Given the description of an element on the screen output the (x, y) to click on. 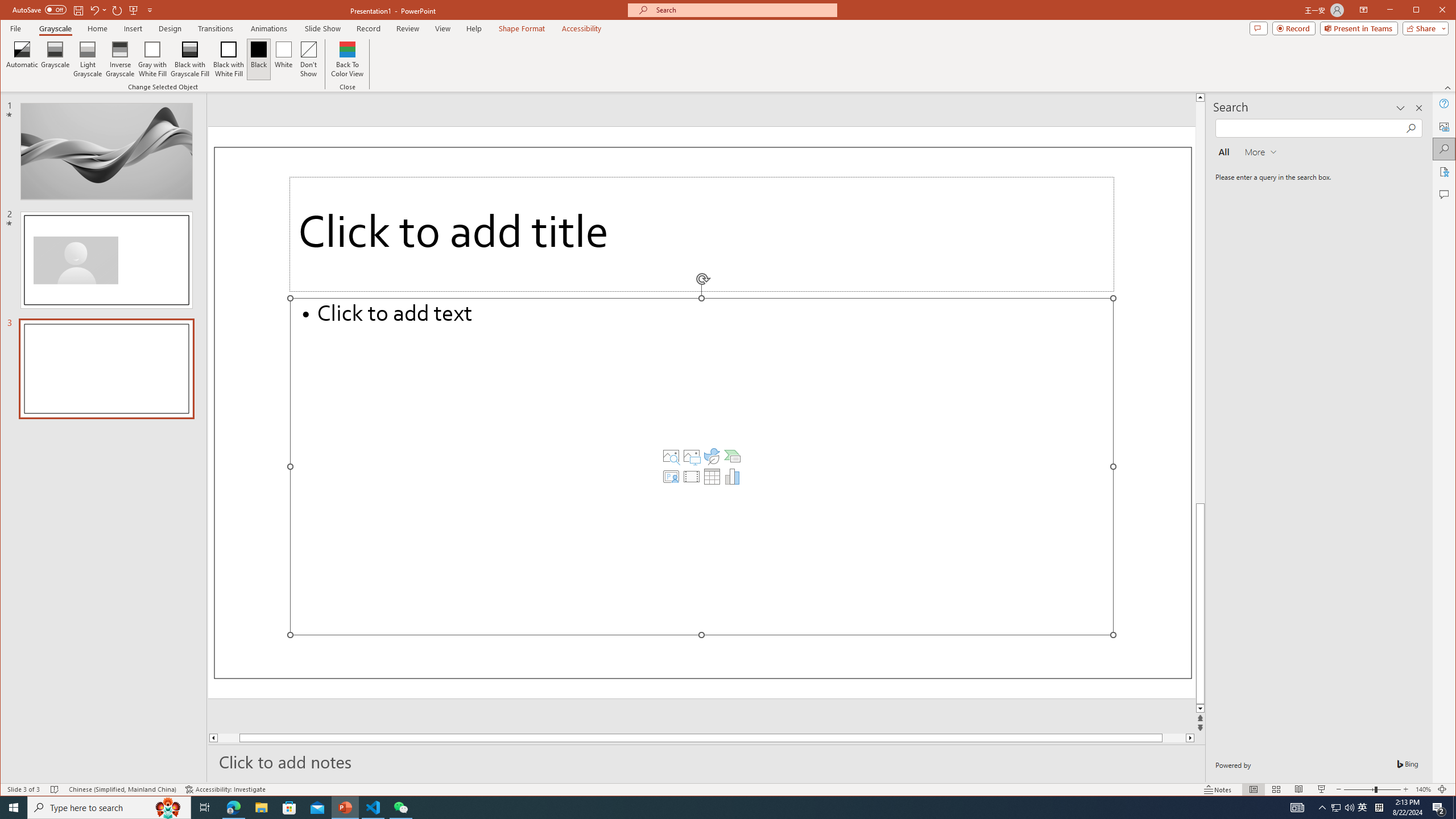
Slide Sorter (1276, 789)
View (443, 28)
File Tab (15, 27)
File Explorer (261, 807)
Search highlights icon opens search home window (167, 807)
Zoom to Fit  (1441, 789)
Normal (1253, 789)
Insert a SmartArt Graphic (732, 456)
User Promoted Notification Area (1342, 807)
Show desktop (1454, 807)
Line up (1200, 96)
Quick Access Toolbar (83, 9)
Undo (94, 9)
Back To Color View (347, 59)
